Given the description of an element on the screen output the (x, y) to click on. 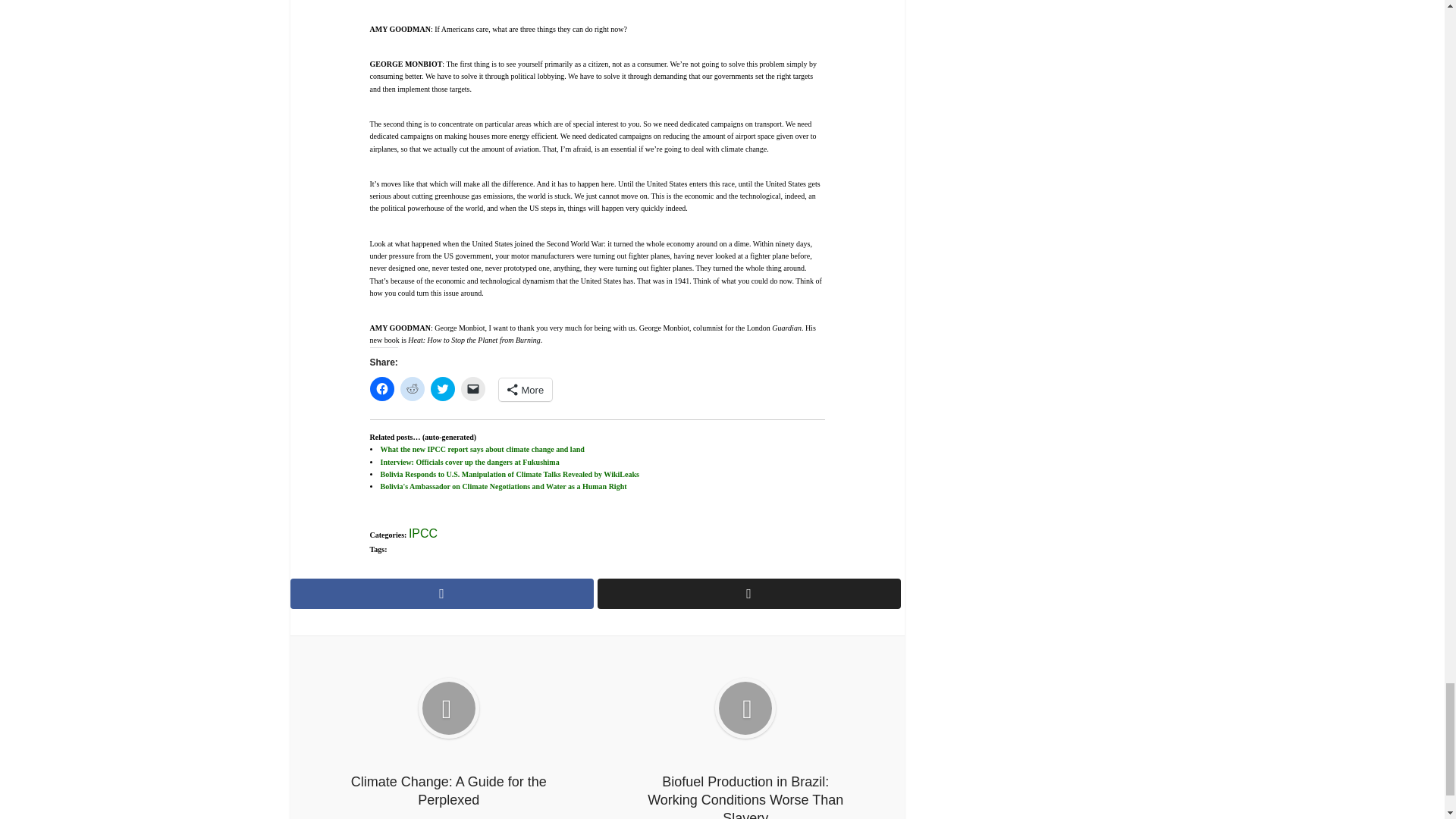
Click to email a link to a friend (472, 388)
Click to share on Facebook (381, 388)
What the new IPCC report says about climate change and land (482, 449)
Click to share on Reddit (412, 388)
Click to share on Twitter (442, 388)
Interview: Officials cover up the dangers at Fukushima (469, 461)
IPCC (423, 533)
More (526, 389)
Interview: Officials cover up the dangers at Fukushima (469, 461)
What the new IPCC report says about climate change and land (482, 449)
